Given the description of an element on the screen output the (x, y) to click on. 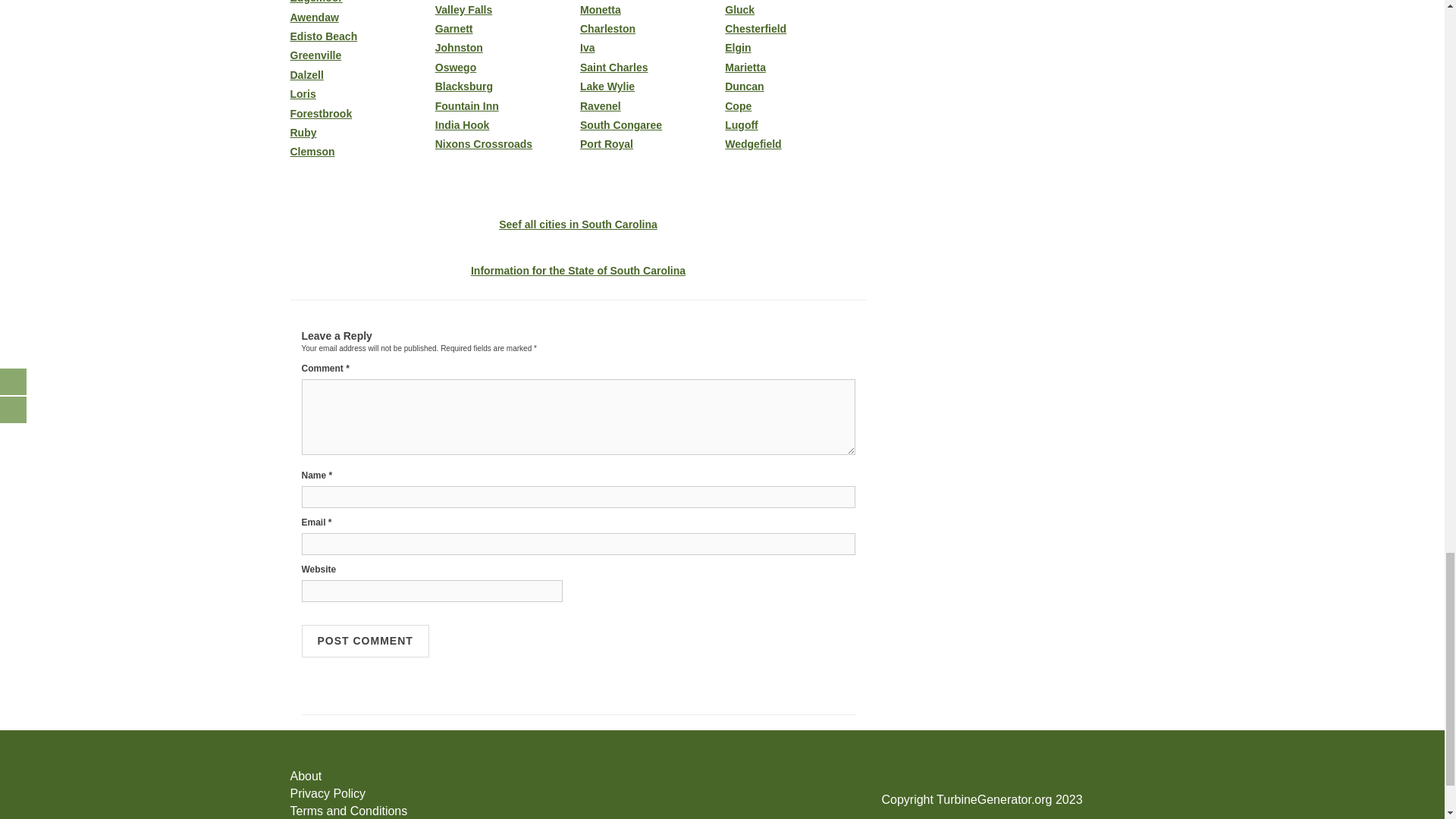
Johnston (505, 48)
Edisto Beach (359, 36)
Oswego (505, 67)
Edgemoor (359, 2)
Fountain Inn (505, 106)
Charleston (649, 29)
Post Comment (365, 640)
Monetta (649, 9)
Clemson (359, 152)
Greenville (359, 55)
